Given the description of an element on the screen output the (x, y) to click on. 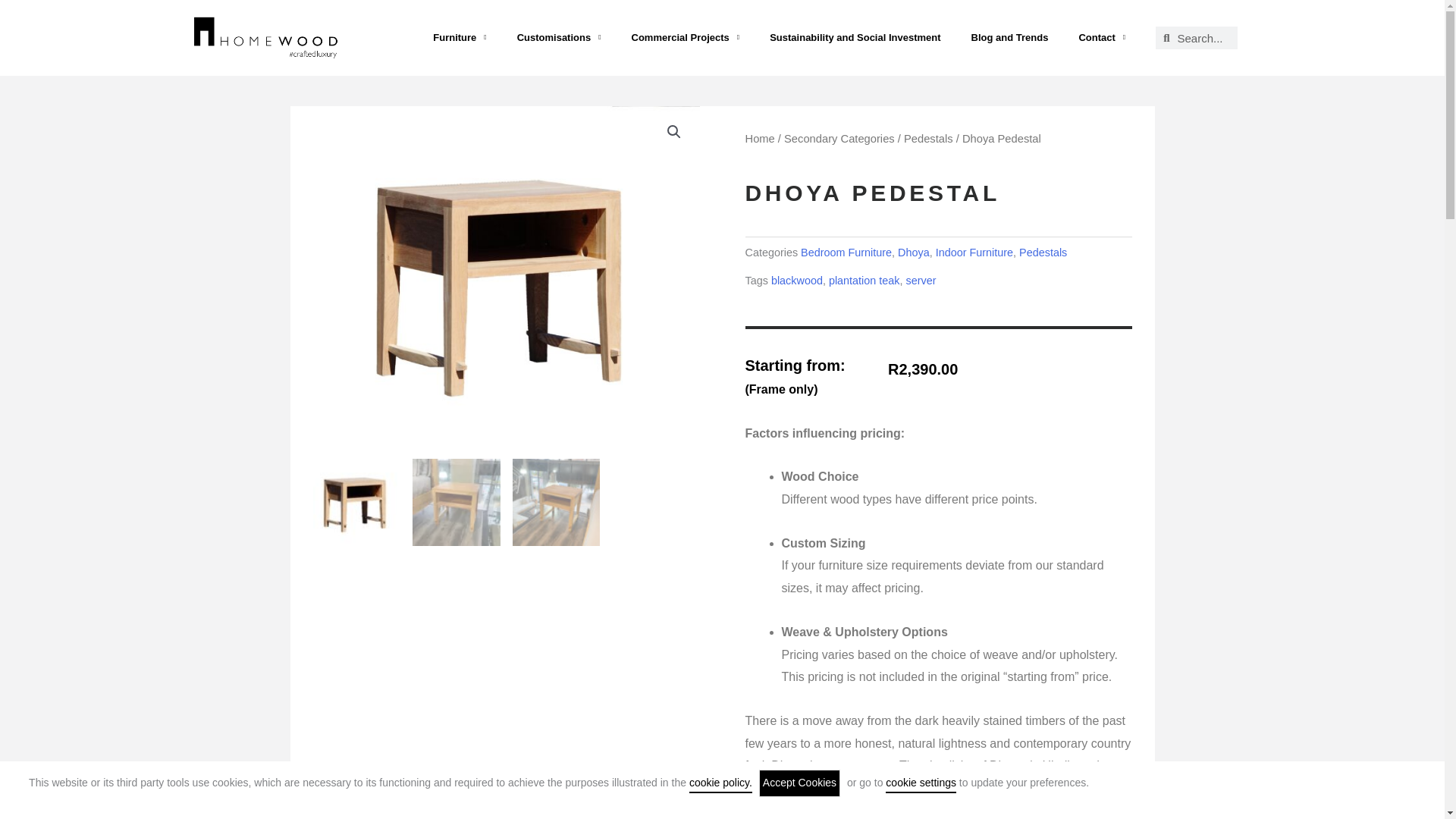
Sustainability and Social Investment (854, 37)
Blog and Trends (1010, 37)
Contact (1101, 37)
Pedestal - Country Shelf (505, 278)
Furniture (458, 37)
Customisations (558, 37)
Commercial Projects (684, 37)
